Given the description of an element on the screen output the (x, y) to click on. 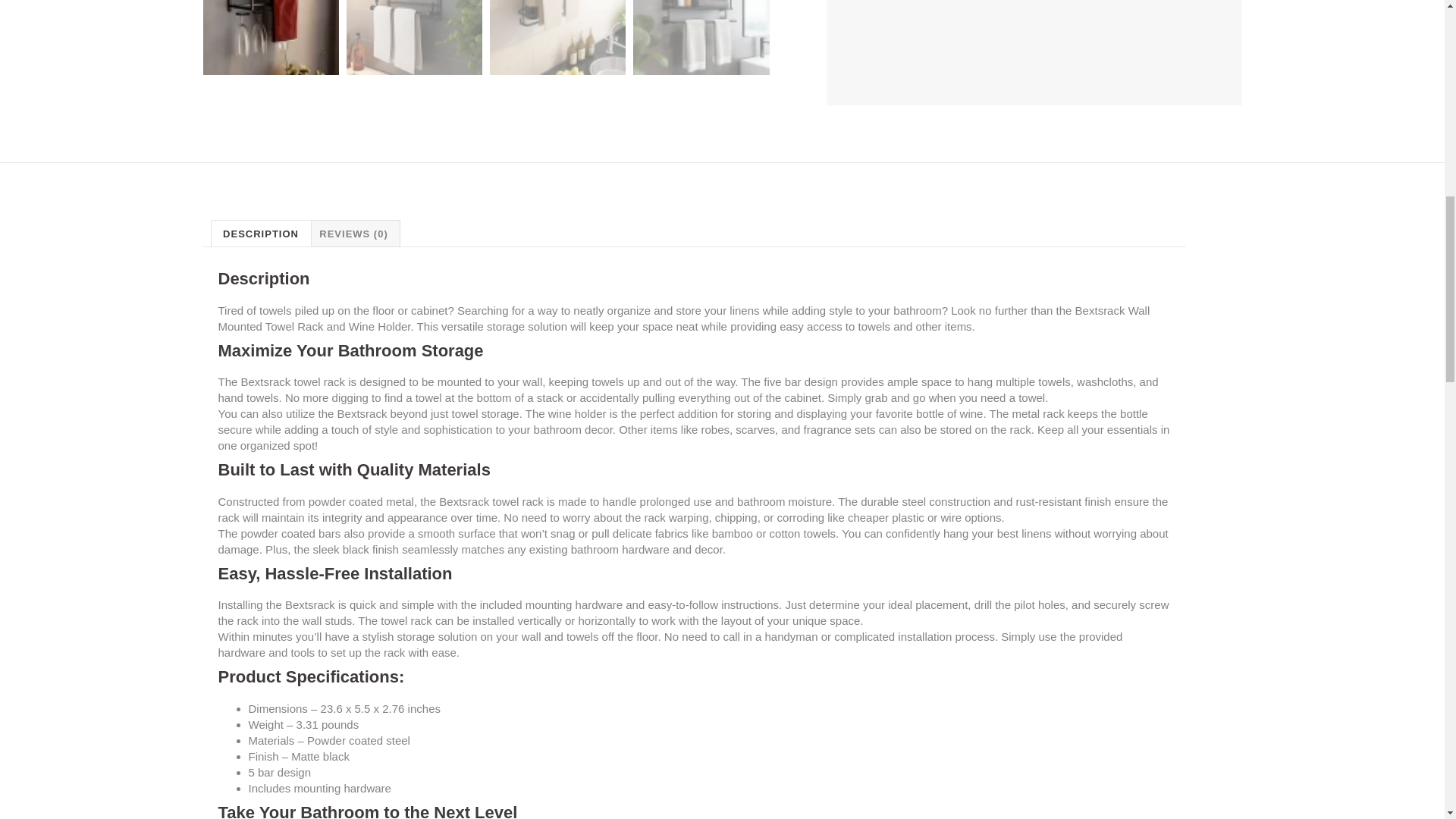
DESCRIPTION (260, 233)
